Given the description of an element on the screen output the (x, y) to click on. 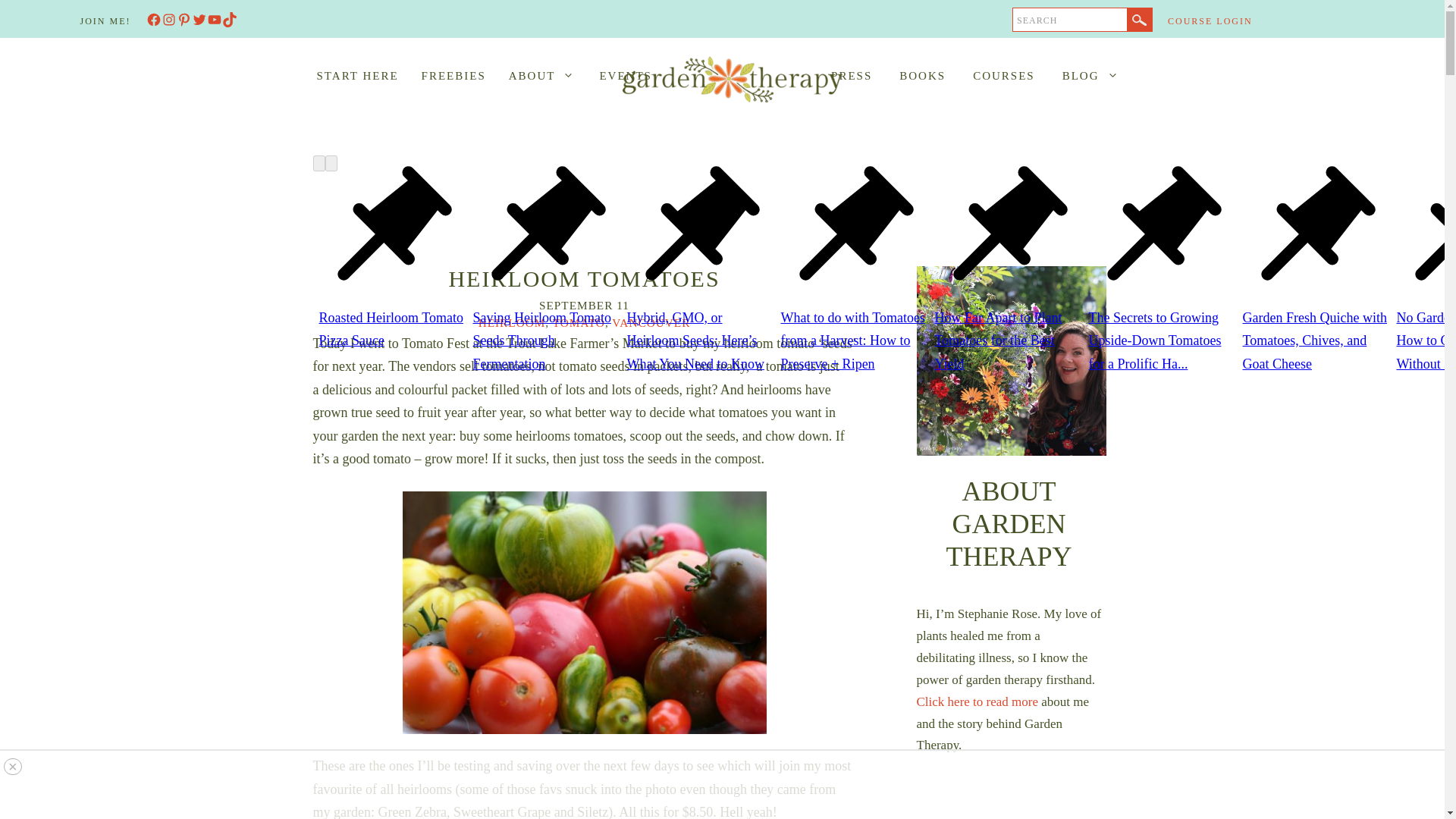
COURSE LOGIN (1209, 20)
TOMATO (579, 322)
HEIRLOOM (512, 322)
COURSES (1003, 75)
VANCOUVER (650, 322)
PRESS (850, 75)
Trout Lake Market Heirlooms (583, 612)
ABOUT (548, 75)
Facebook (152, 19)
BOOKS (922, 75)
EVENTS (631, 75)
SEARCH (1069, 20)
START HERE (356, 75)
BLOG (1090, 75)
